Given the description of an element on the screen output the (x, y) to click on. 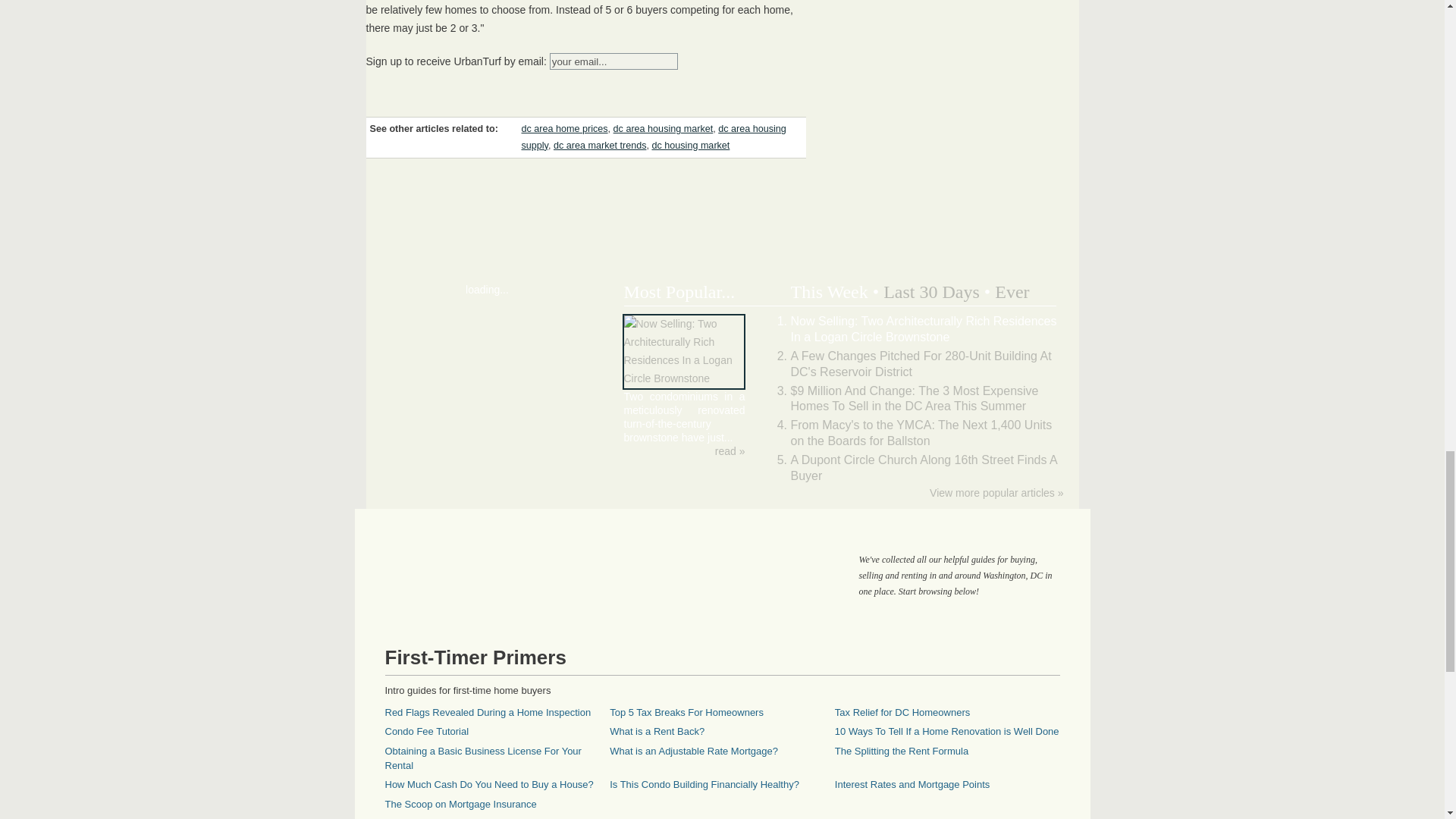
dc housing market (689, 145)
dc area housing supply (653, 136)
your email... (614, 61)
Last 30 Days (931, 291)
dc area home prices (564, 128)
dc area housing supply (653, 136)
dc area market trends (599, 145)
Read the article (729, 450)
dc housing market (689, 145)
dc area housing market (662, 128)
